Given the description of an element on the screen output the (x, y) to click on. 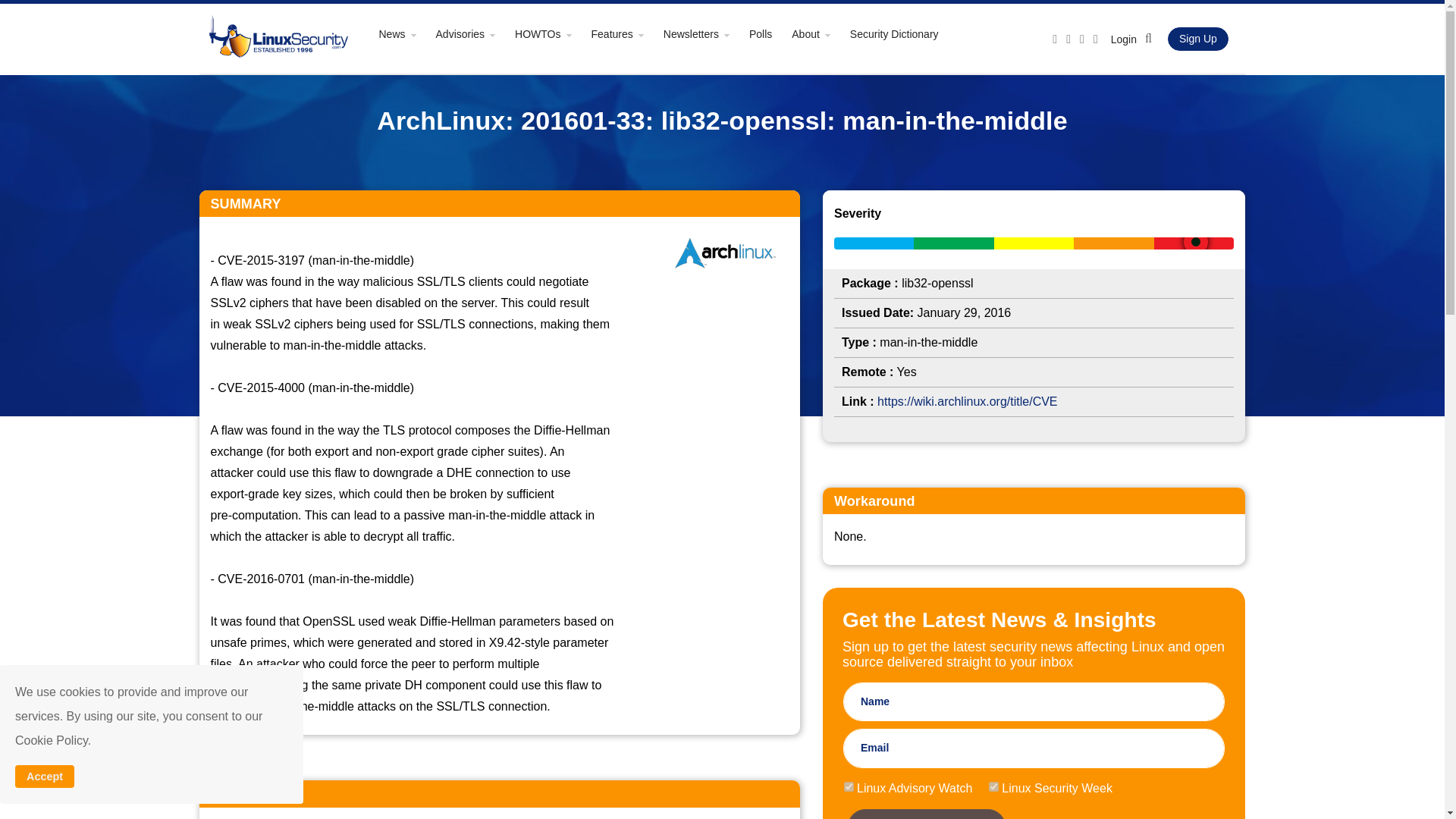
Advisories (473, 33)
Linux Security (275, 37)
News (405, 33)
Features (625, 33)
HOWTOs (551, 33)
Yes, sign me up! (926, 814)
Advisories (473, 33)
News (405, 33)
